Given the description of an element on the screen output the (x, y) to click on. 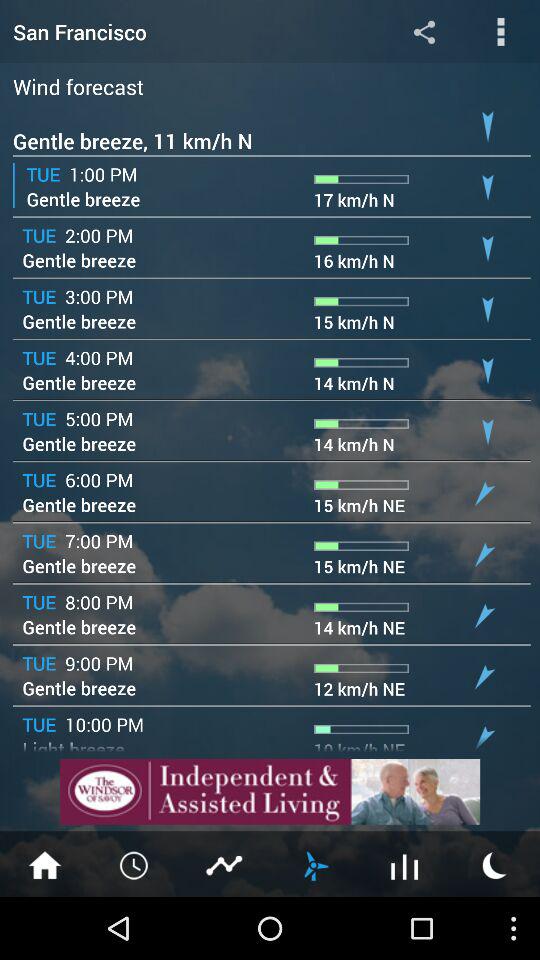
go to alarm (135, 864)
